Given the description of an element on the screen output the (x, y) to click on. 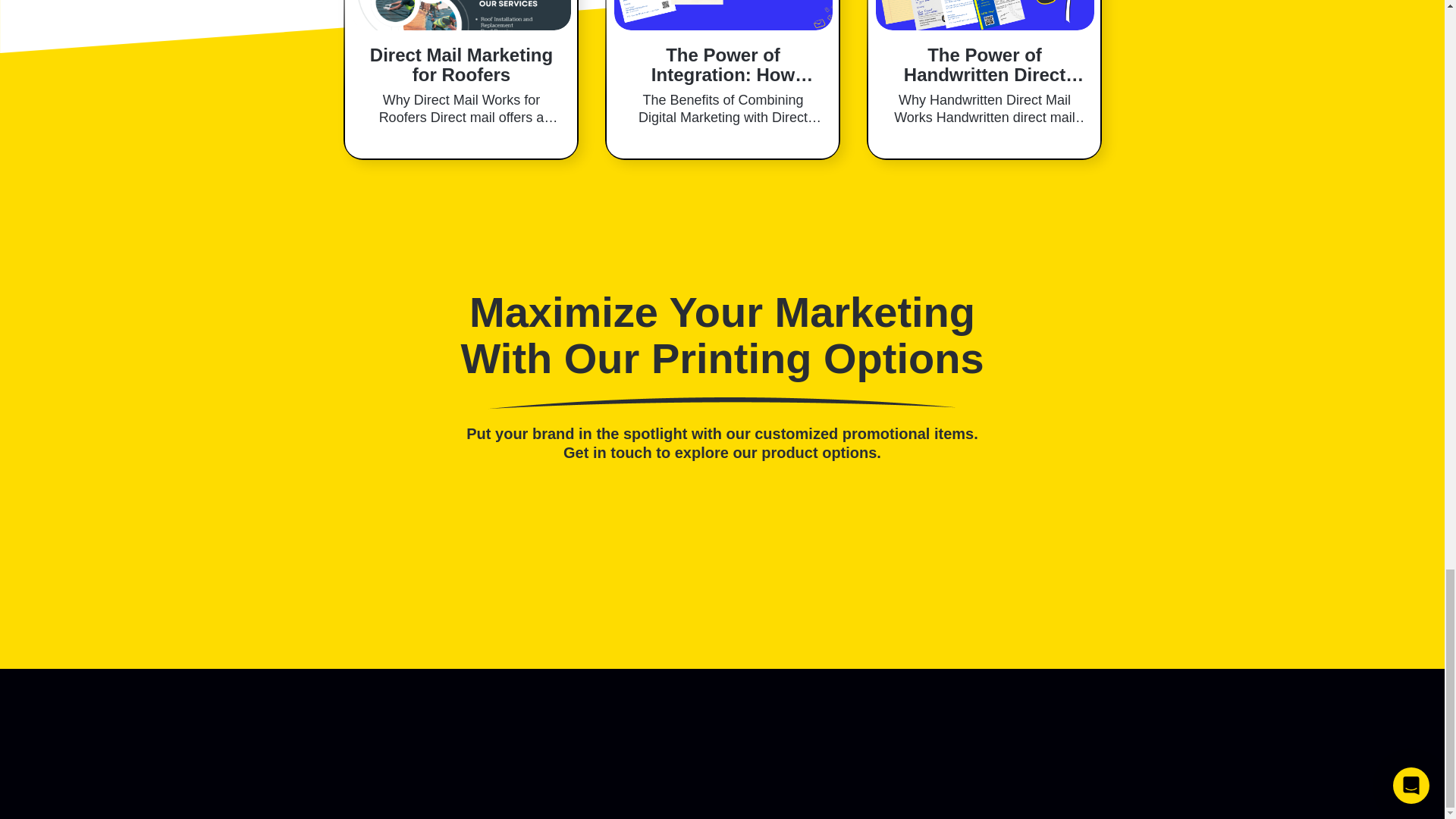
Direct Mail Marketing for Roofers (461, 65)
Direct Mail Marketing for Roofers (461, 15)
